Given the description of an element on the screen output the (x, y) to click on. 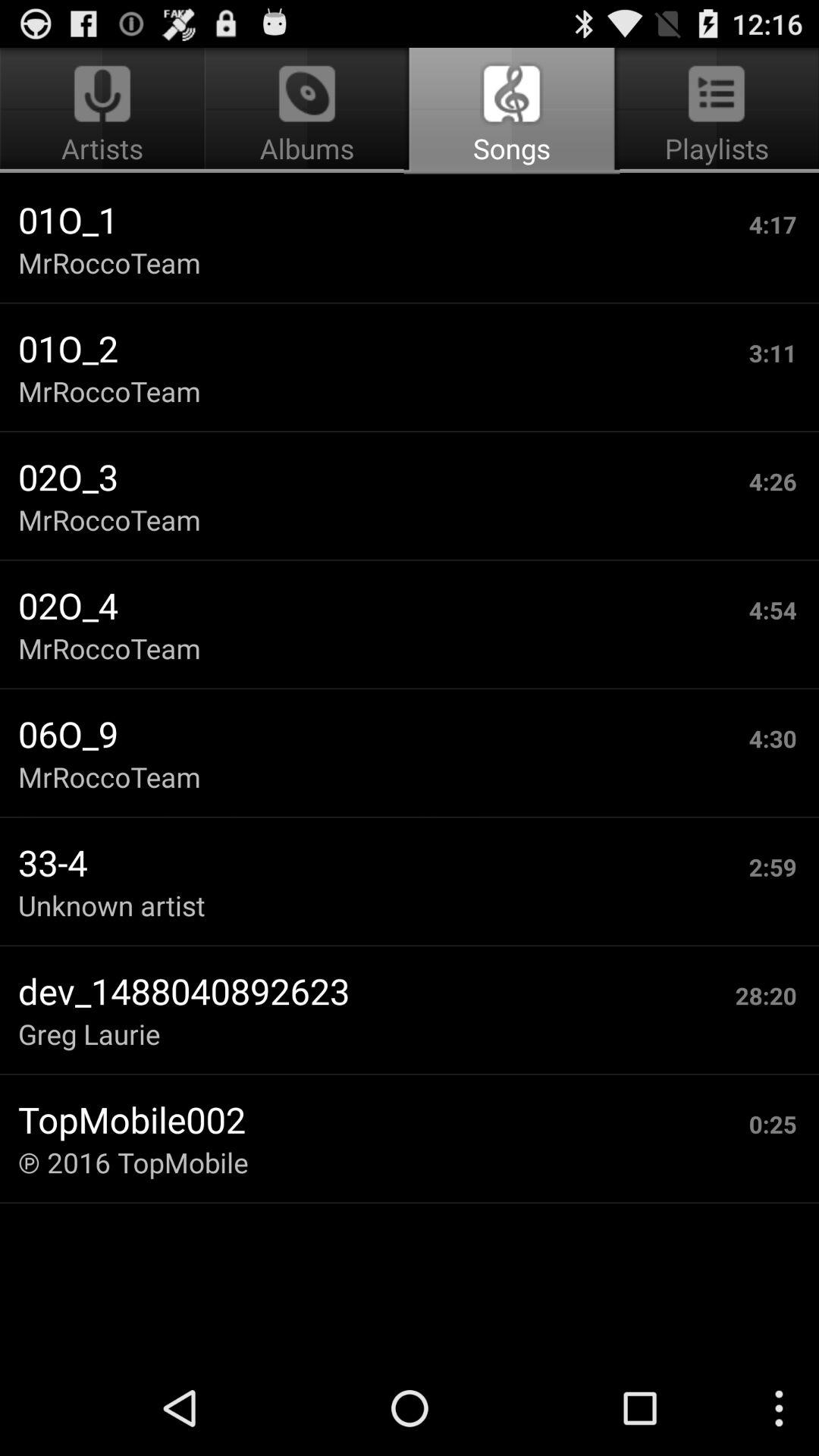
press item above 01o_1 app (511, 111)
